Given the description of an element on the screen output the (x, y) to click on. 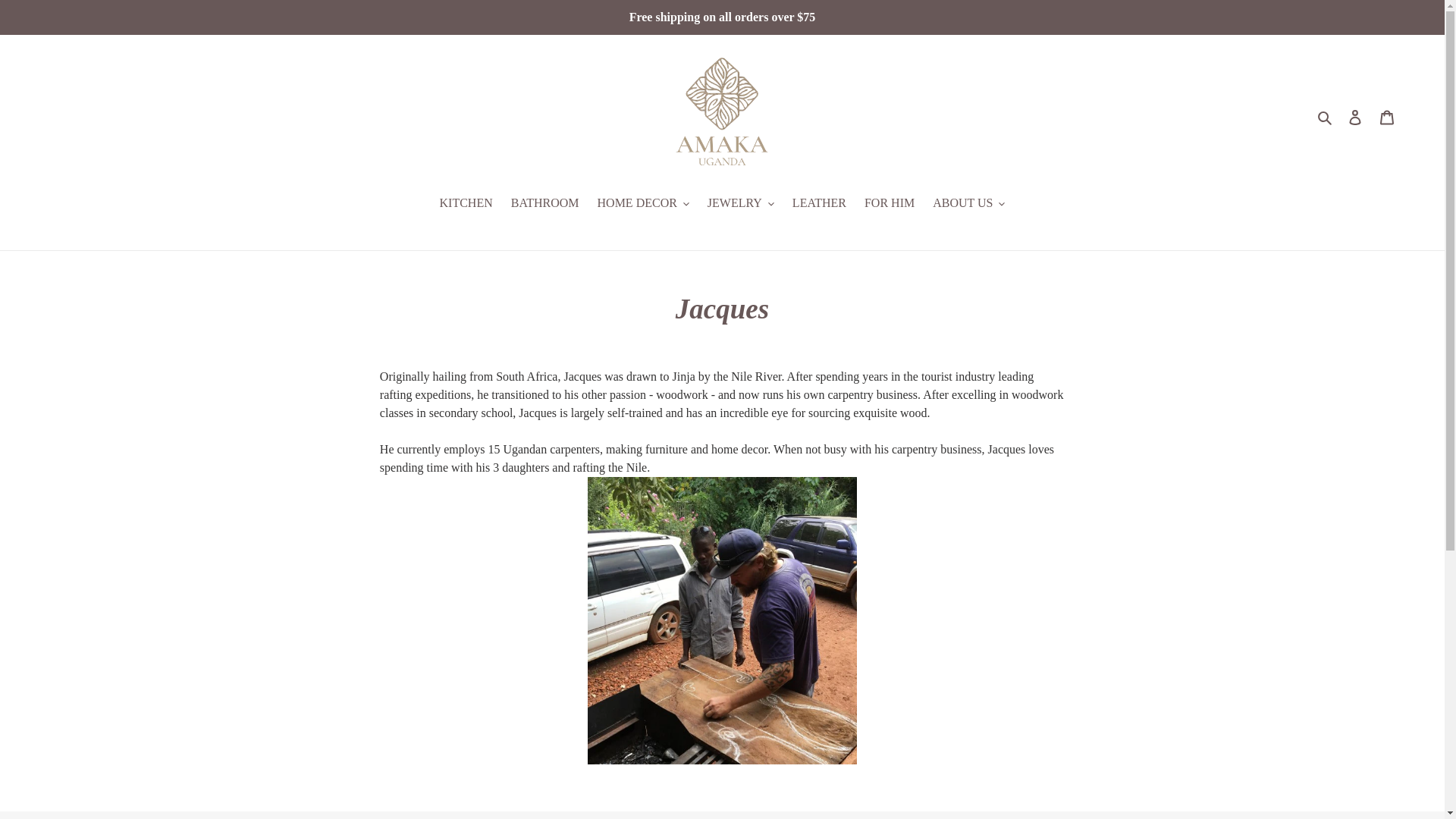
Cart (1387, 116)
HOME DECOR (643, 204)
BATHROOM (544, 204)
Log in (1355, 116)
KITCHEN (466, 204)
Search (1326, 116)
